Given the description of an element on the screen output the (x, y) to click on. 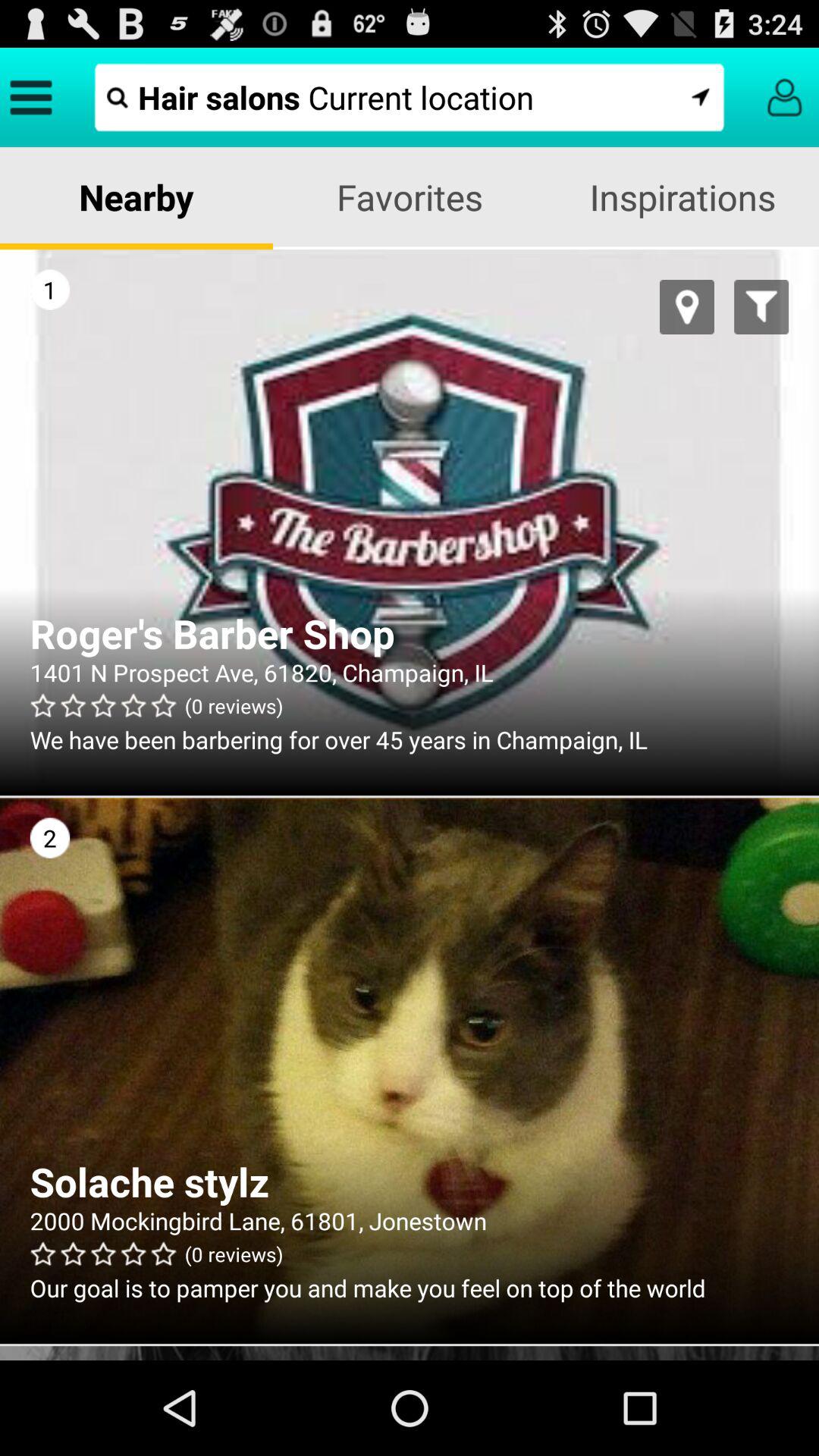
open the app next to favorites item (136, 196)
